Given the description of an element on the screen output the (x, y) to click on. 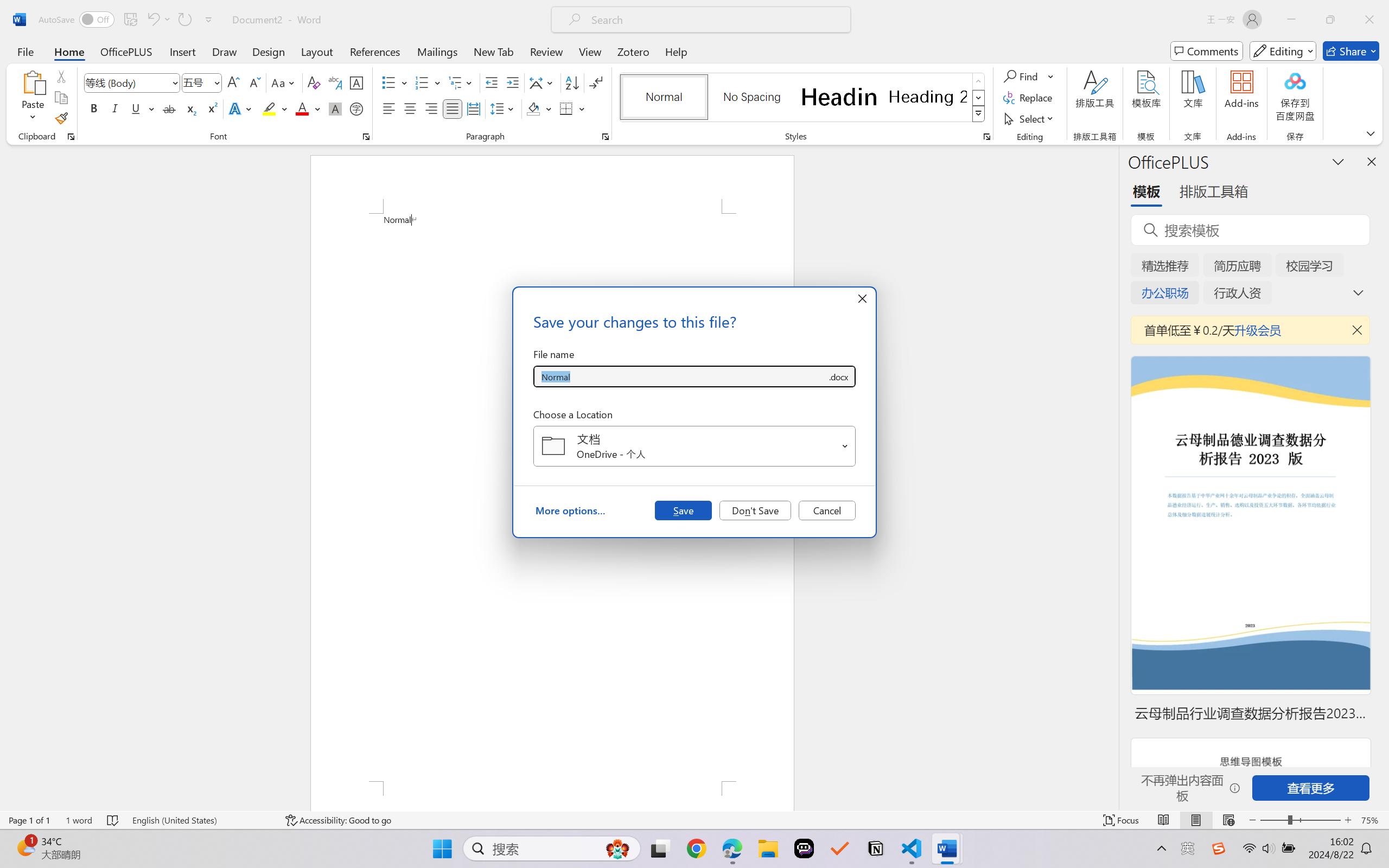
Page Number Page 1 of 1 (29, 819)
Subscript (190, 108)
Character Shading (334, 108)
AutomationID: DynamicSearchBoxGleamImage (617, 848)
Numbering (428, 82)
Google Chrome (696, 848)
Review (546, 51)
Multilevel List (461, 82)
Bold (94, 108)
